Given the description of an element on the screen output the (x, y) to click on. 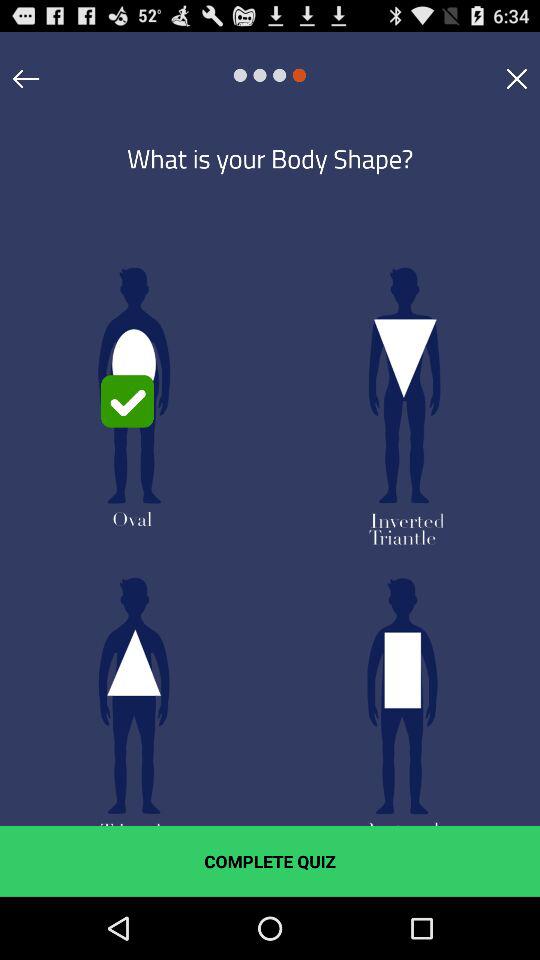
turn on icon above what is your (516, 78)
